Given the description of an element on the screen output the (x, y) to click on. 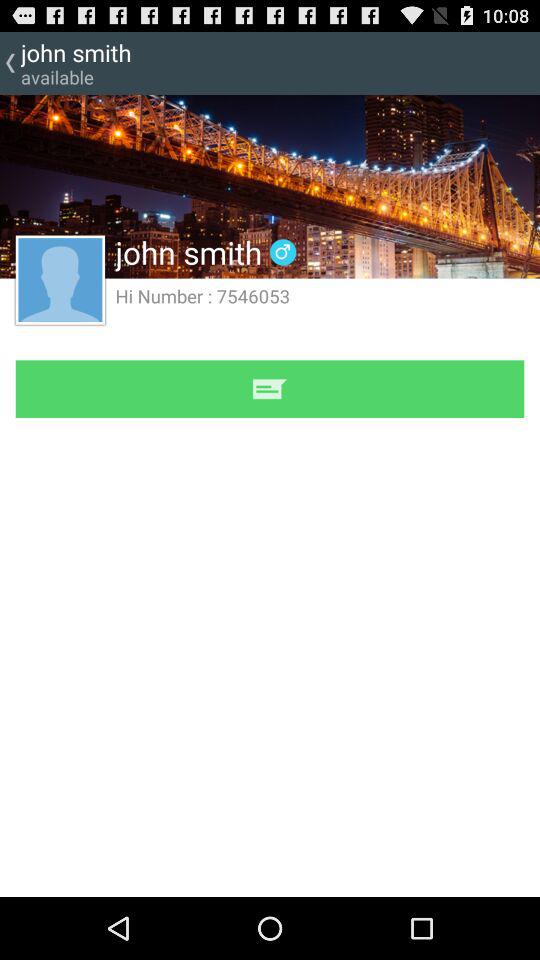
press app above hi number : 7546053 (270, 186)
